Given the description of an element on the screen output the (x, y) to click on. 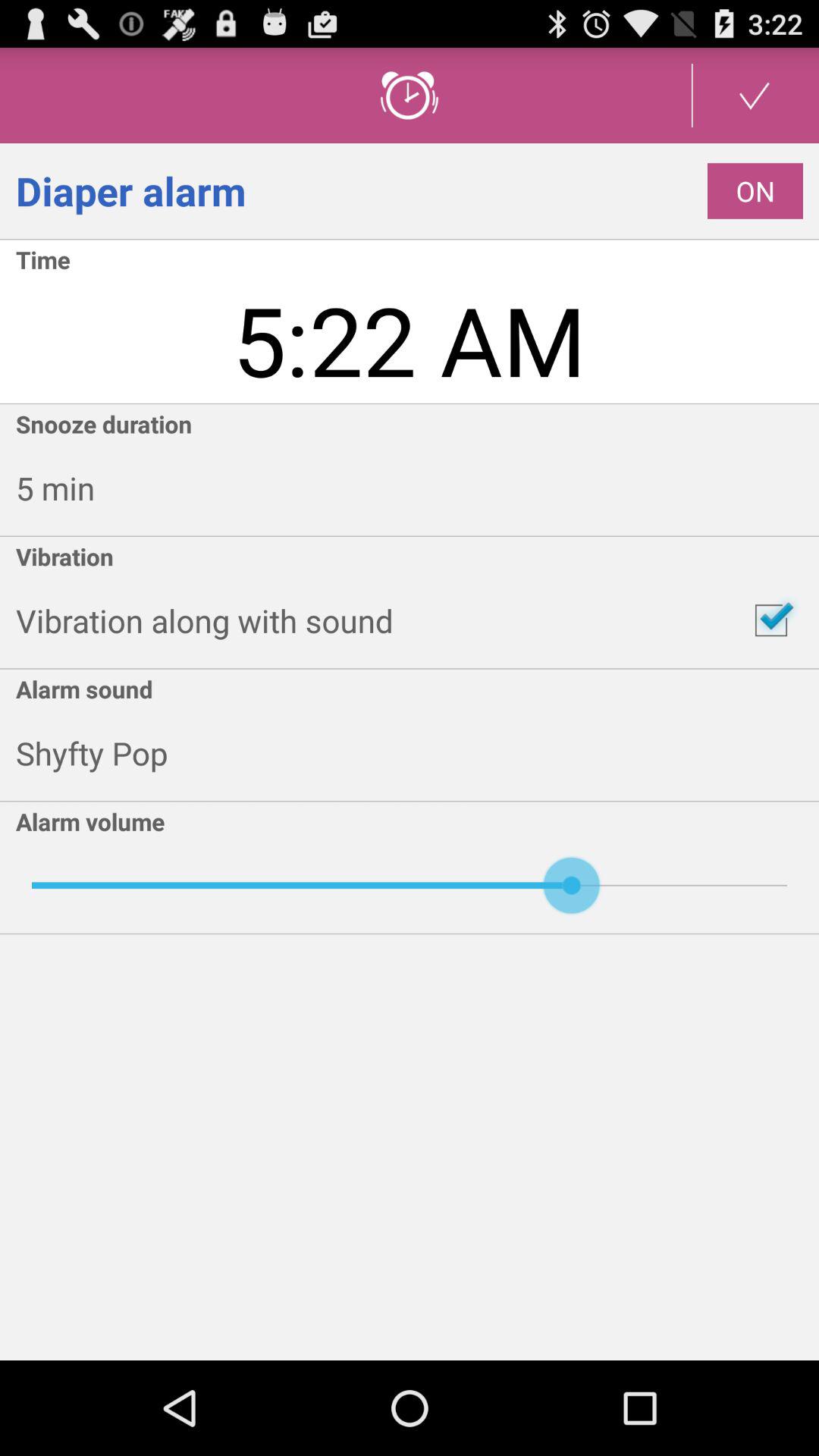
select the item below the time app (409, 339)
